Given the description of an element on the screen output the (x, y) to click on. 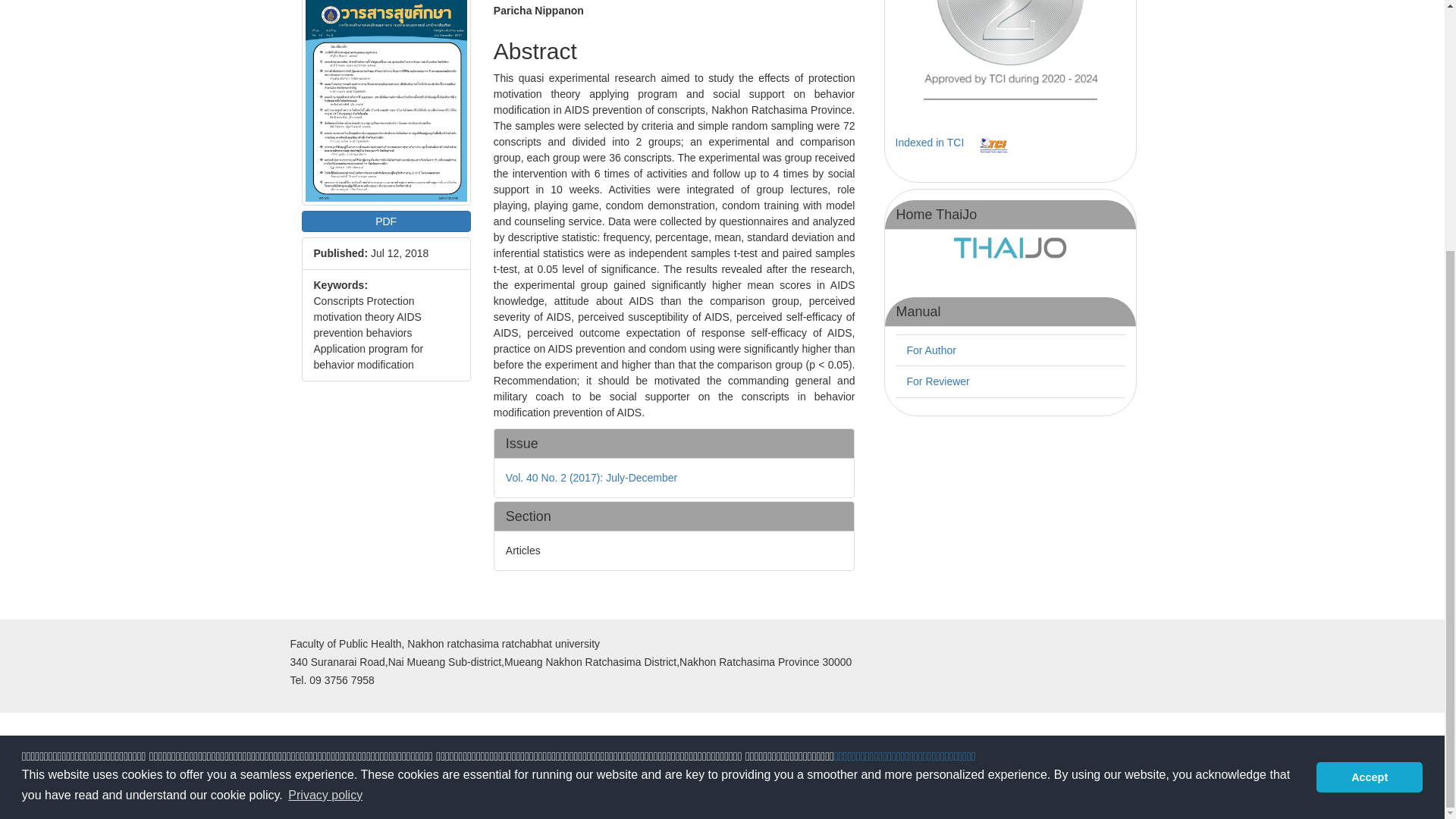
For Reviewer (938, 381)
Privacy policy (1364, 460)
Privacy policy (325, 443)
home thaijo (1010, 246)
For Author (931, 349)
PDF (385, 220)
Indexed in TCI (929, 142)
Accept (1369, 425)
